Given the description of an element on the screen output the (x, y) to click on. 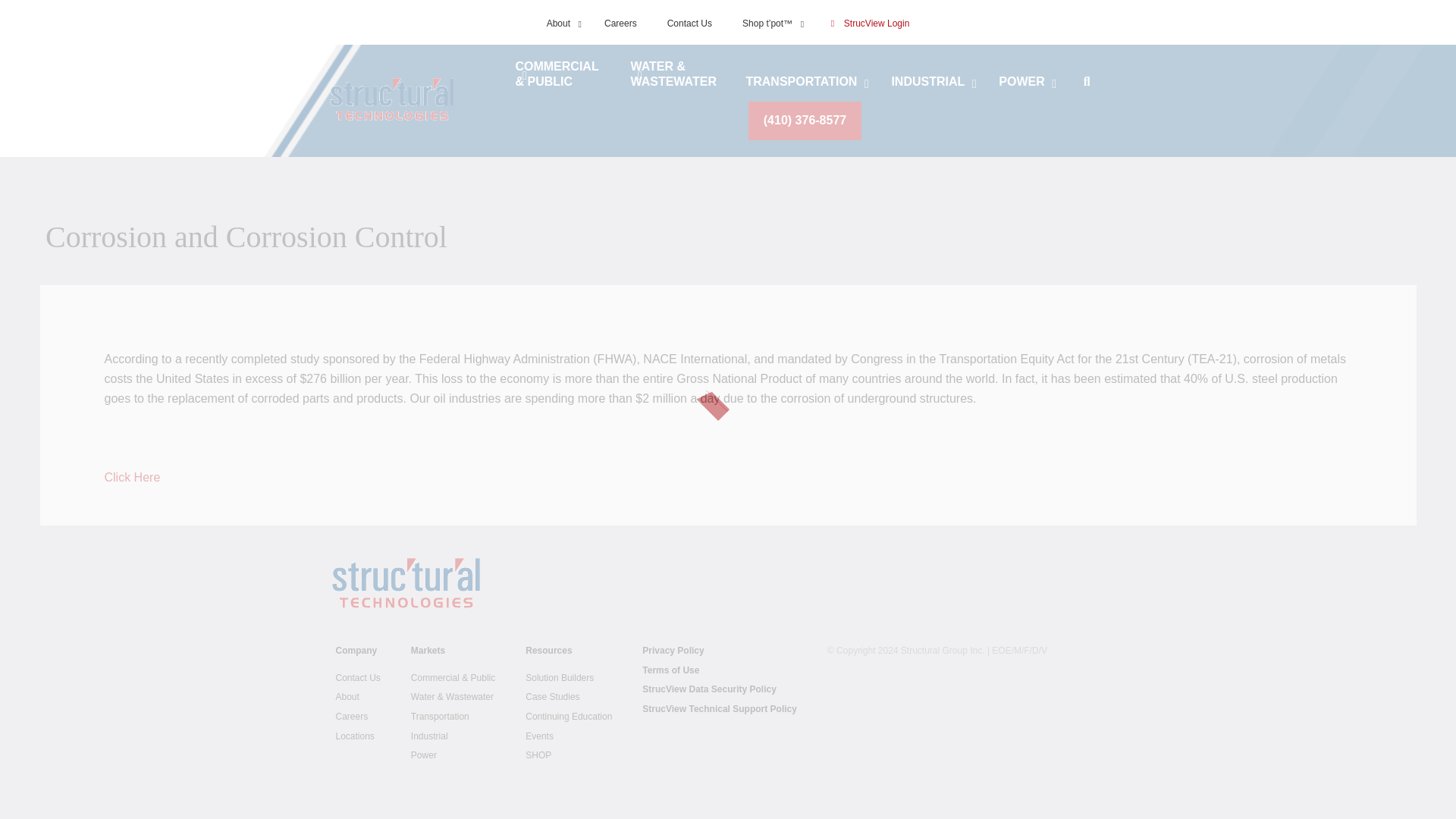
About (560, 23)
Contact Us (689, 23)
StrucView Login (867, 23)
Careers (620, 23)
